Given the description of an element on the screen output the (x, y) to click on. 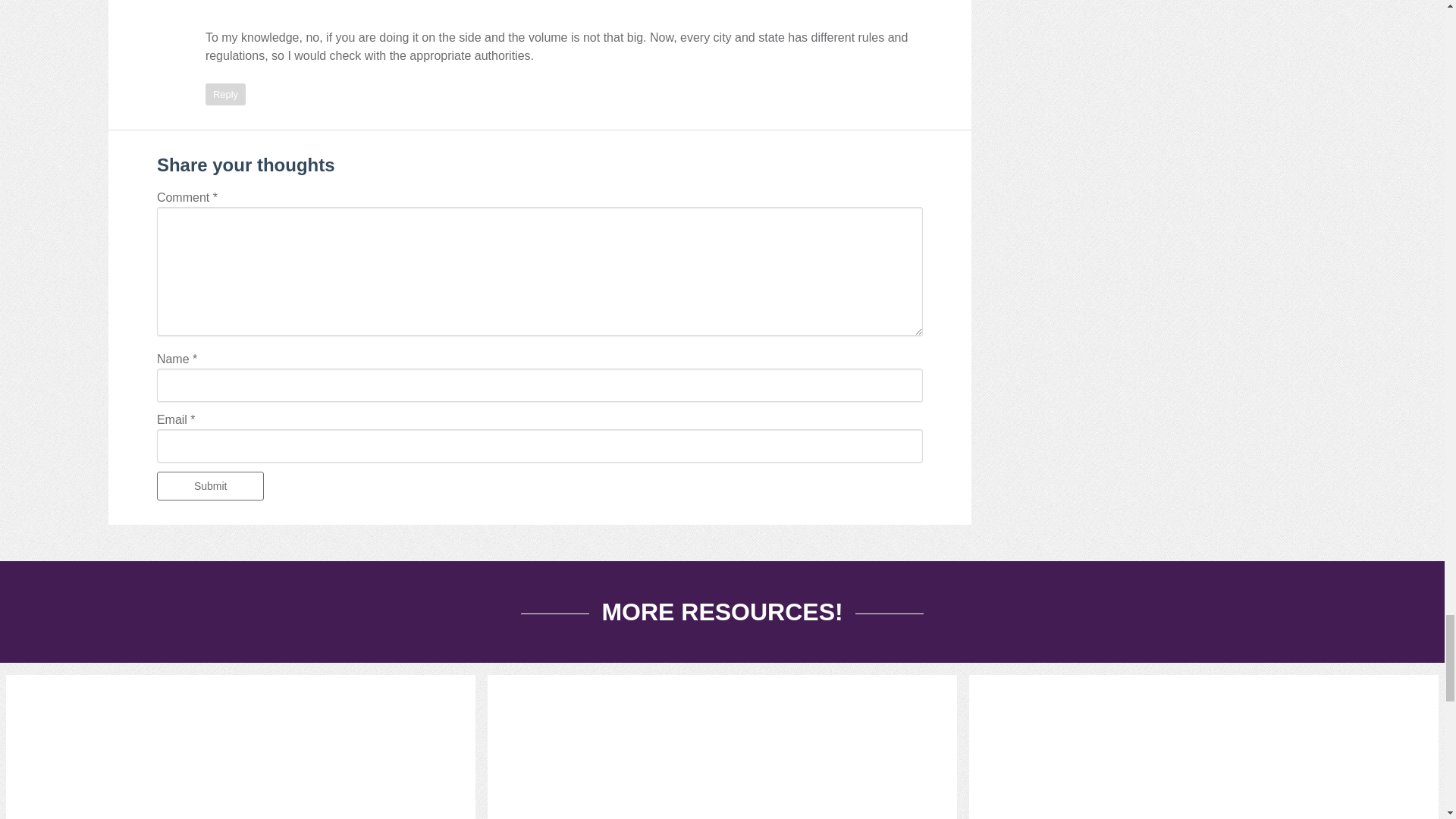
Reply (225, 94)
Submit (210, 485)
Submit (210, 485)
